Given the description of an element on the screen output the (x, y) to click on. 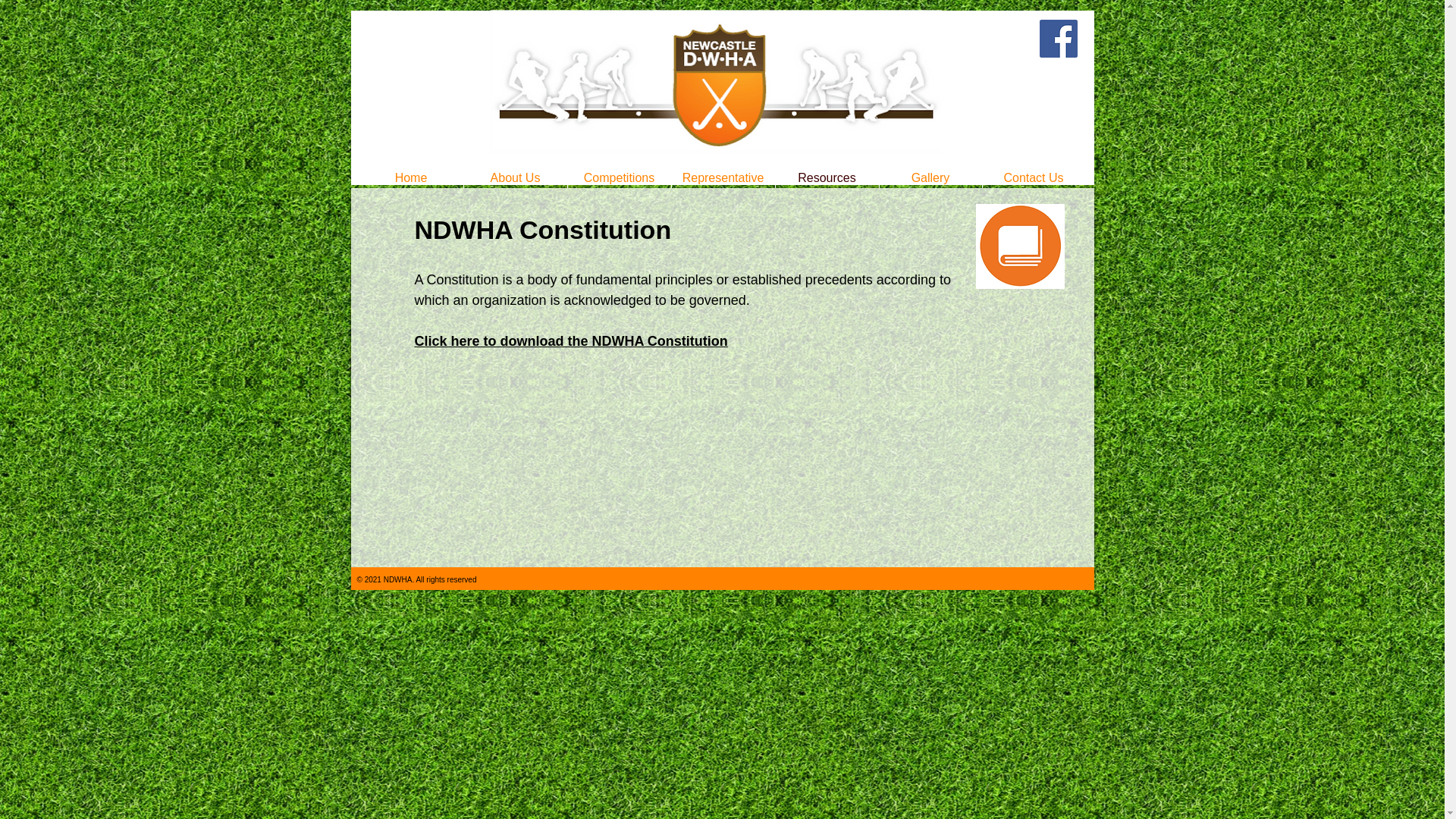
Click here to download the NDWHA Constitution Element type: text (570, 340)
Resources Element type: text (826, 177)
Competitions Element type: text (618, 177)
Contact Us Element type: text (1033, 177)
Representative Element type: text (723, 177)
Home Element type: text (411, 177)
About Us Element type: text (515, 177)
Gallery Element type: text (930, 177)
